Given the description of an element on the screen output the (x, y) to click on. 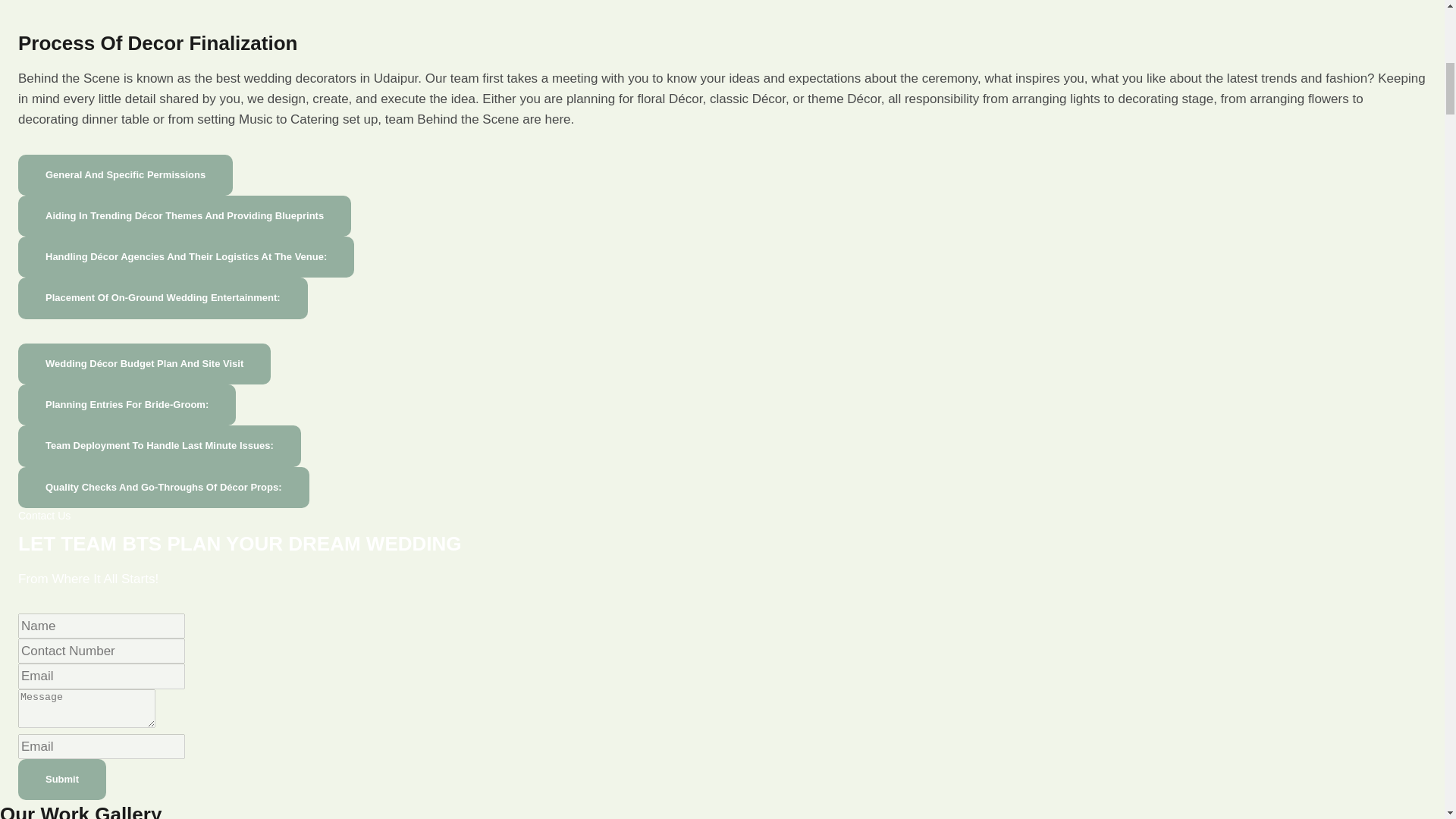
Varmala Ceremony of Chandraprabha and Aditya (303, 4)
